Given the description of an element on the screen output the (x, y) to click on. 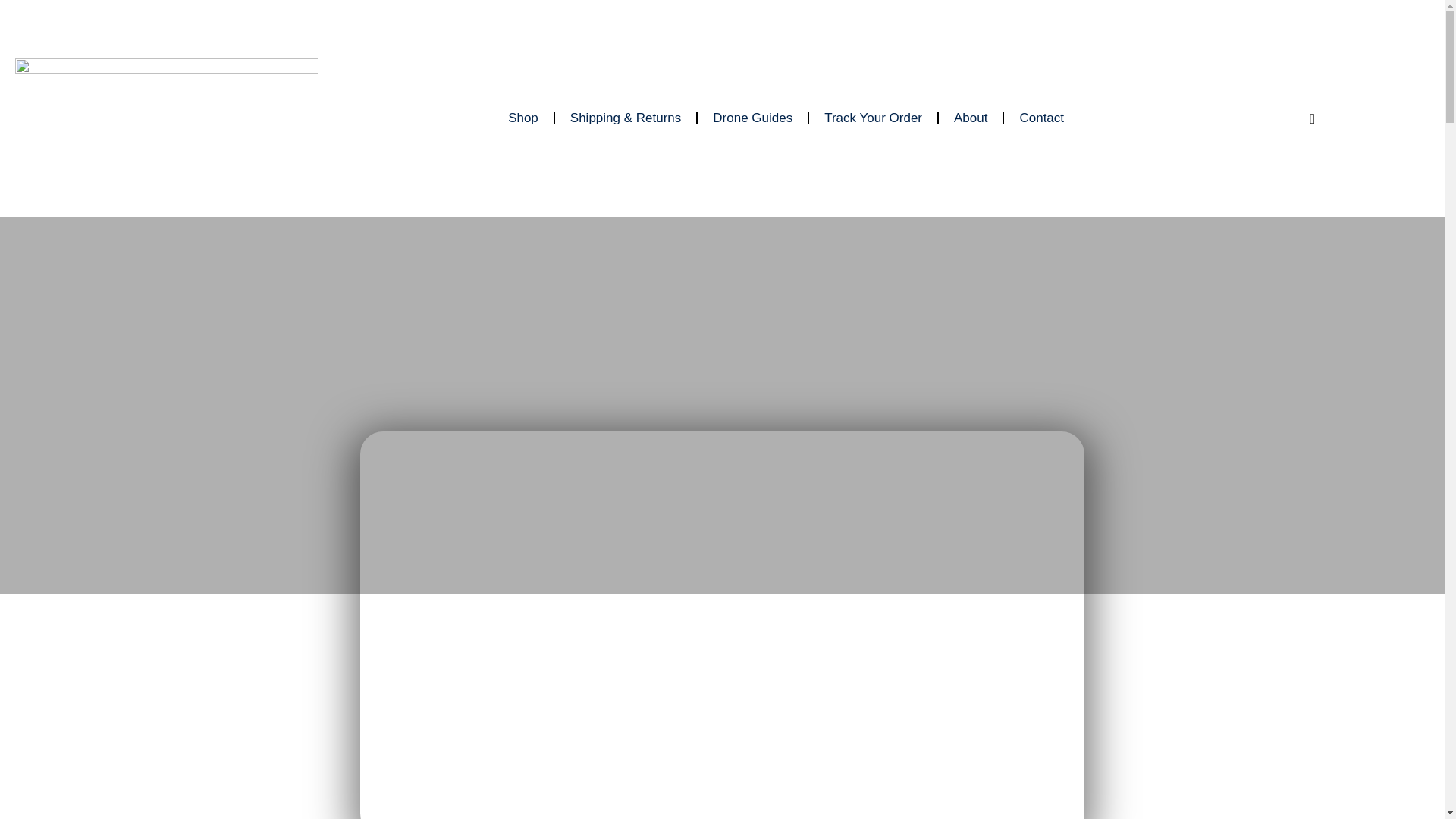
Track Your Order (873, 117)
Contact (1041, 117)
Shop (523, 117)
About (971, 117)
Drone Guides (752, 117)
Cart (1311, 117)
